Given the description of an element on the screen output the (x, y) to click on. 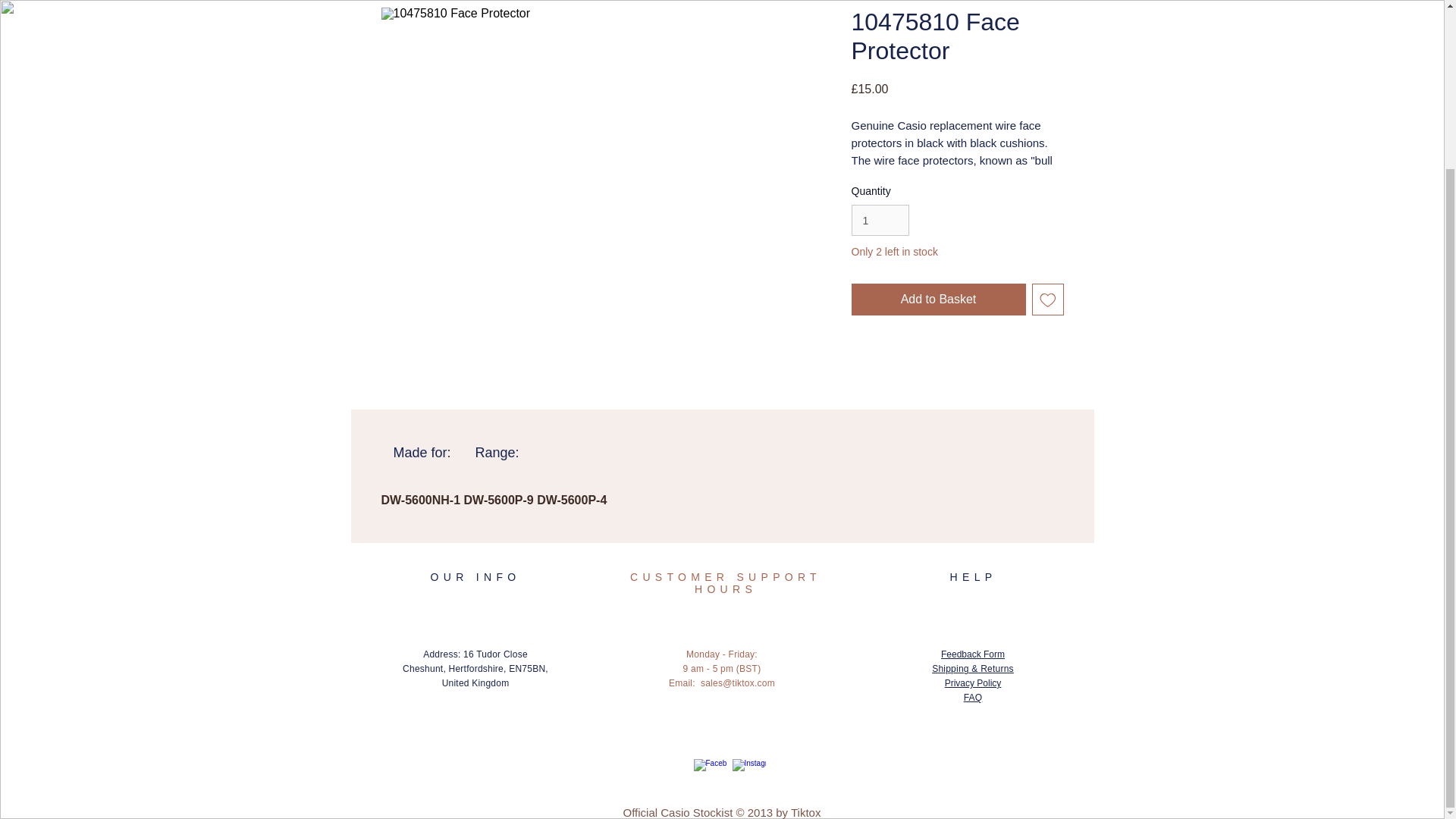
1 (879, 219)
Use right and left arrows to navigate between tabs (421, 452)
Use right and left arrows to navigate between tabs (496, 452)
